Given the description of an element on the screen output the (x, y) to click on. 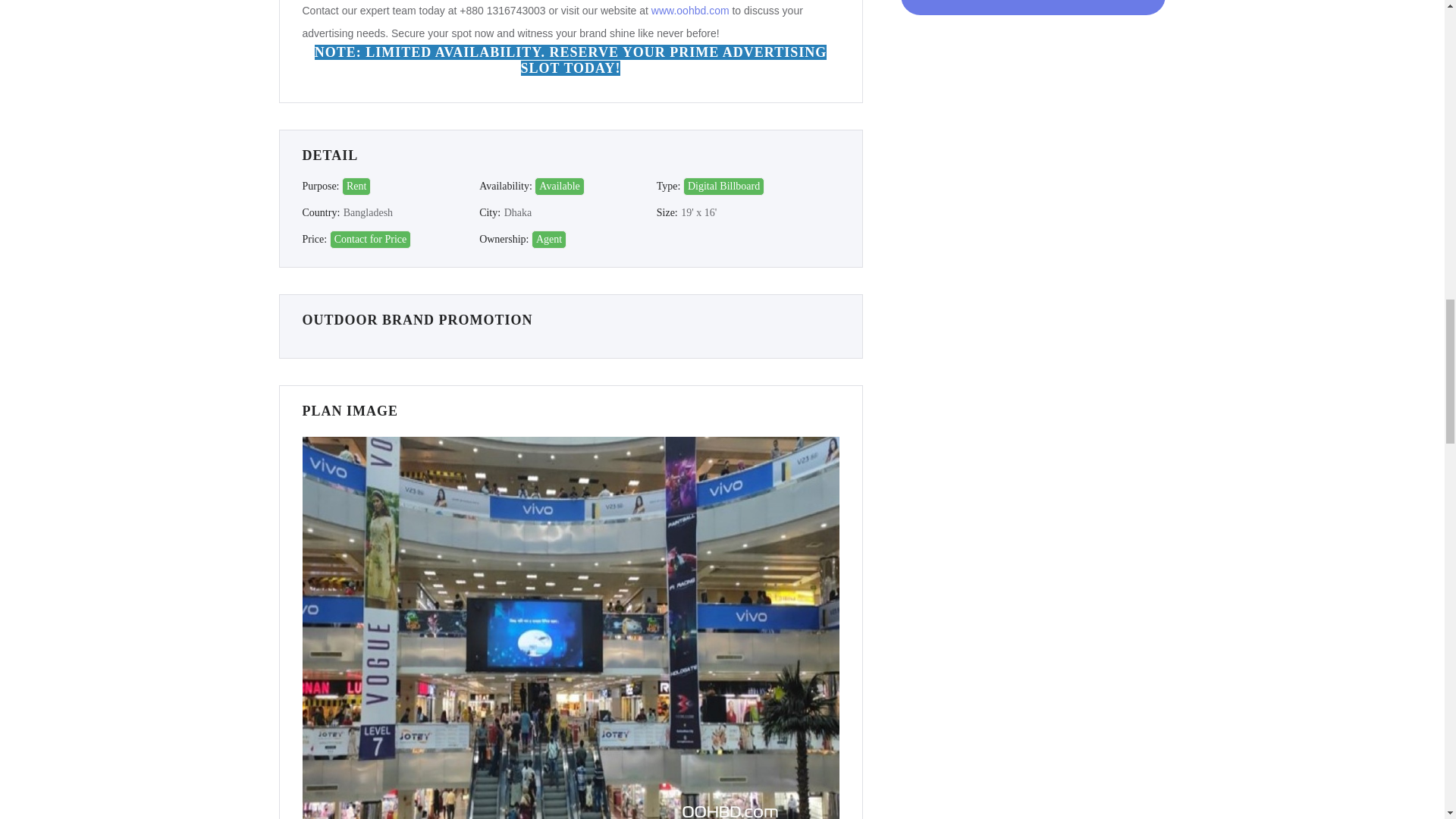
www.oohbd.com (689, 10)
